Given the description of an element on the screen output the (x, y) to click on. 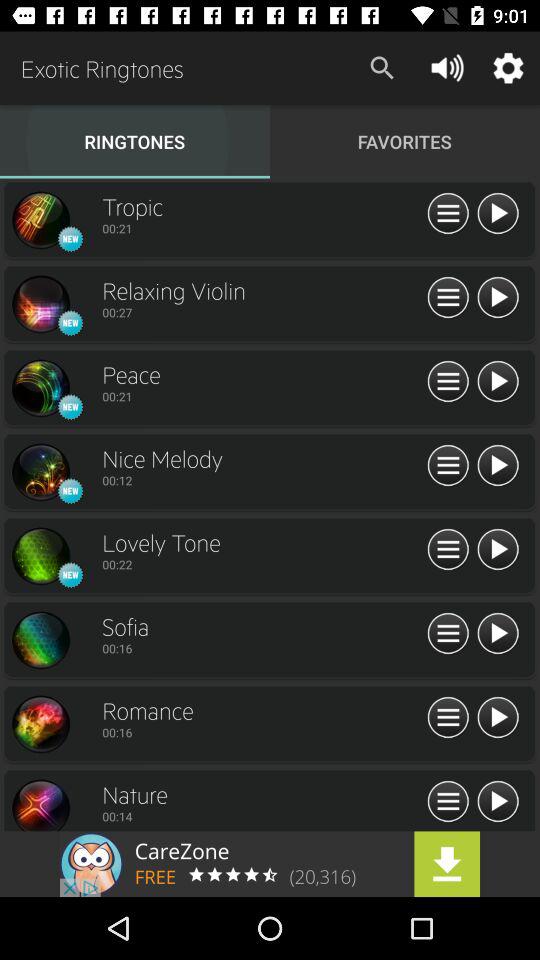
view playlist (447, 213)
